Given the description of an element on the screen output the (x, y) to click on. 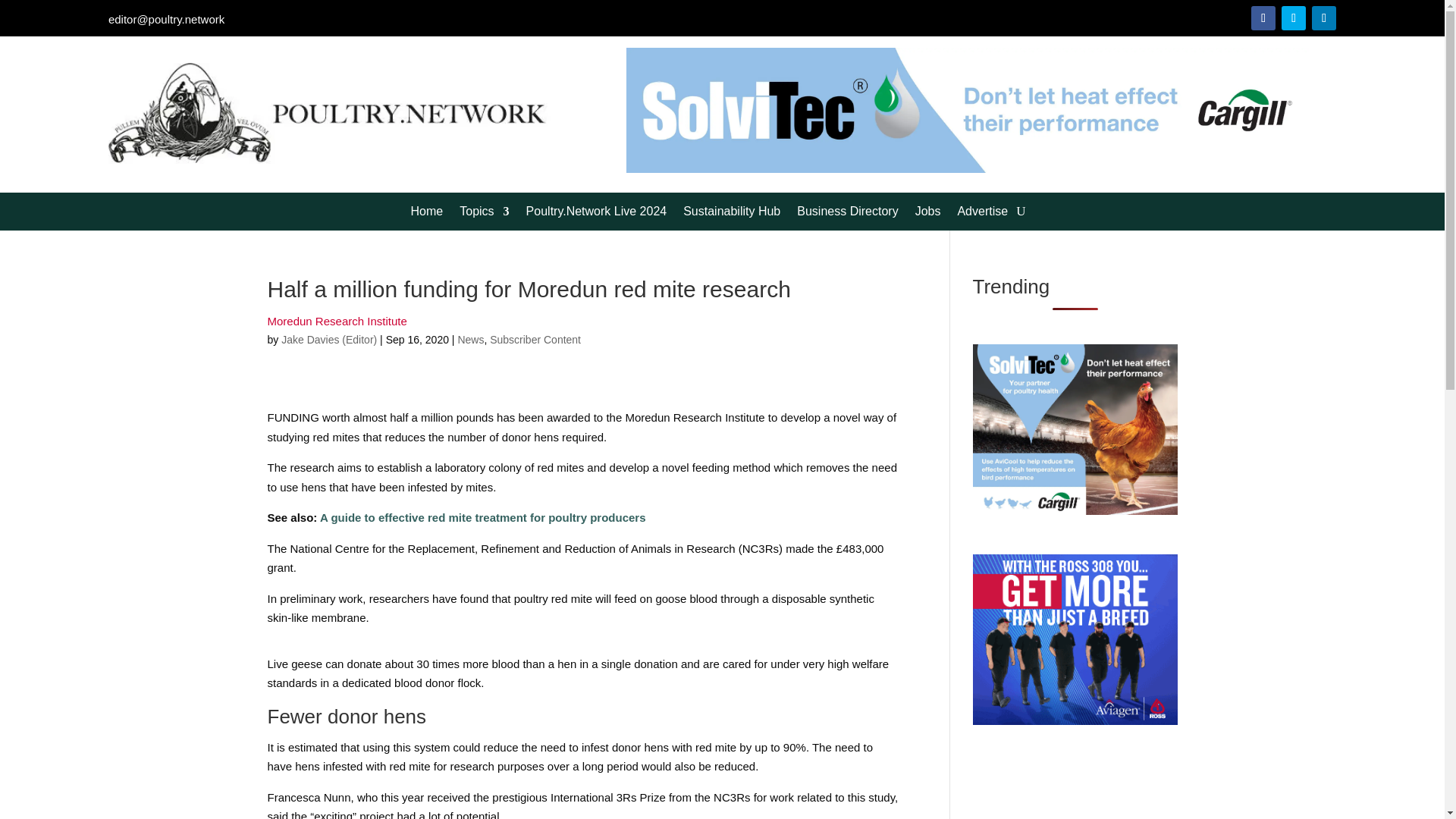
Follow on LinkedIn (1323, 17)
Poultry.Network Live 2024 (595, 214)
Subscriber Content (534, 339)
Business Directory (847, 214)
Follow on Twitter (1293, 17)
Follow on Facebook (1262, 17)
Topics (484, 214)
Home (427, 214)
Advertise (981, 214)
